Given the description of an element on the screen output the (x, y) to click on. 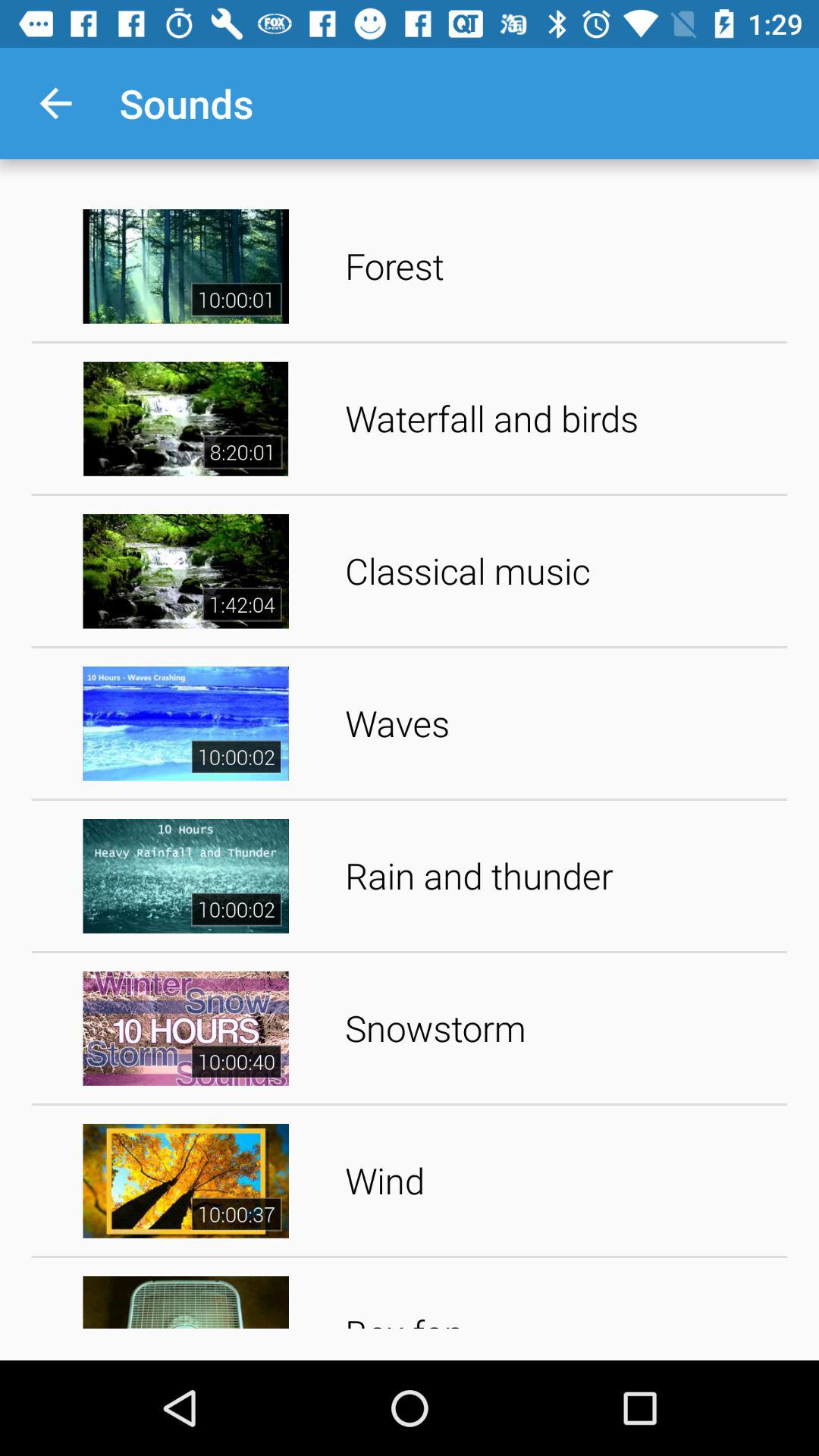
select the item above classical music (560, 418)
